Given the description of an element on the screen output the (x, y) to click on. 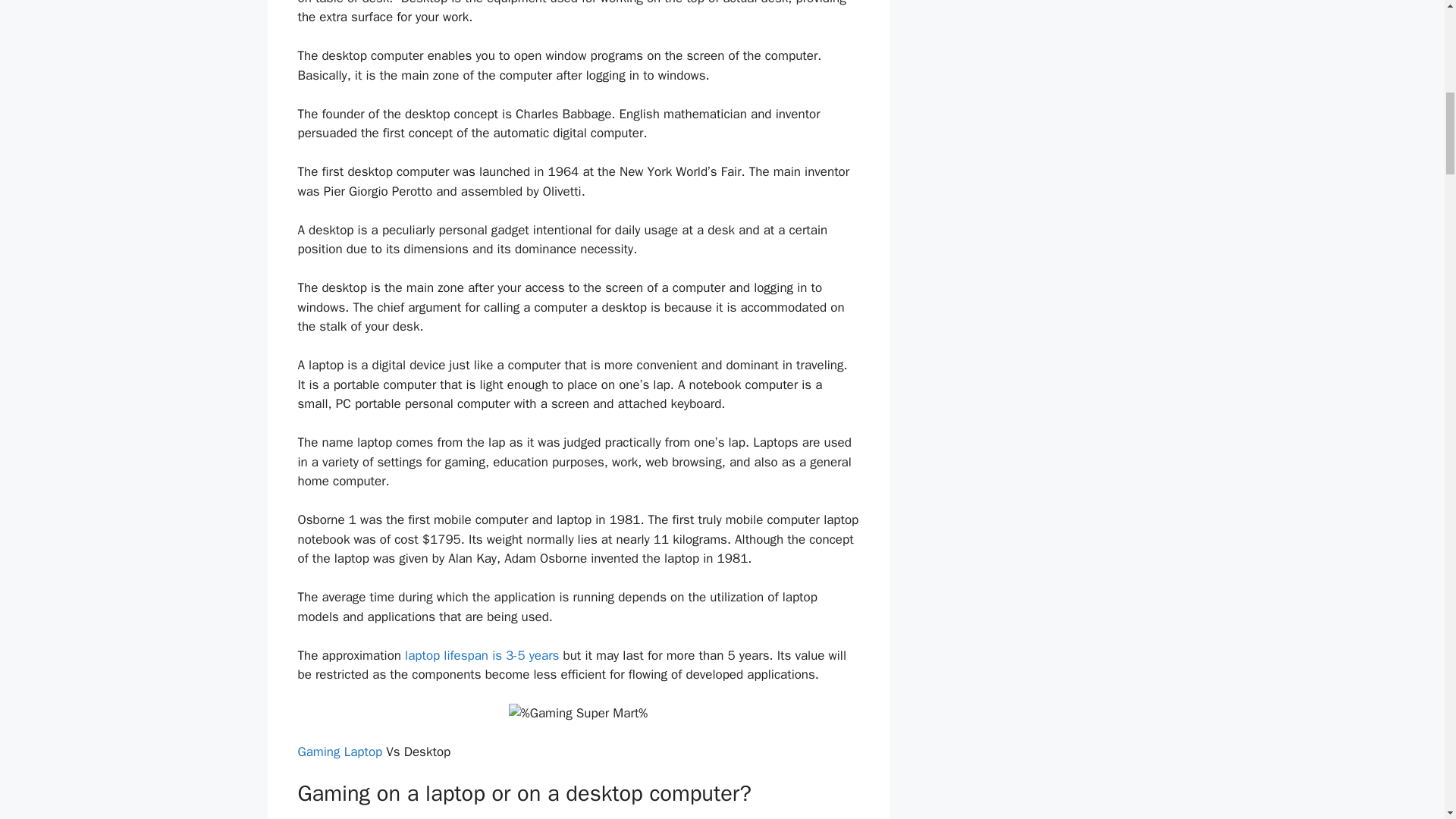
Gaming Laptop (341, 751)
laptop lifespan is 3-5 years (481, 655)
